Given the description of an element on the screen output the (x, y) to click on. 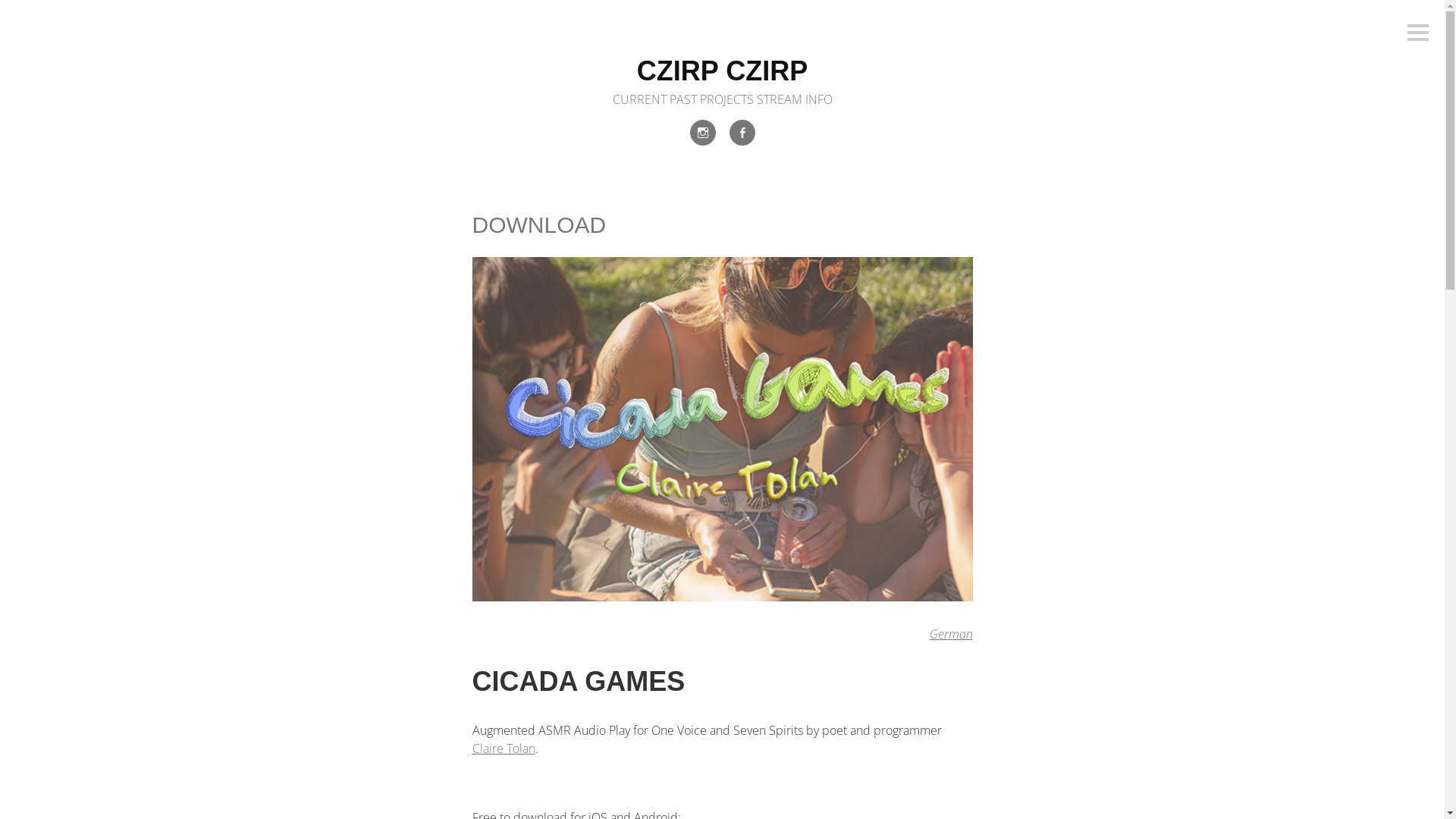
CZIRP CZIRP Element type: text (722, 70)
INFO Element type: text (818, 99)
Sidebar Element type: text (1417, 33)
Instagram Element type: text (702, 132)
STREAM Element type: text (779, 99)
CURRENT Element type: text (639, 99)
German Element type: text (950, 633)
PROJECTS Element type: text (726, 99)
Facebook Element type: text (741, 132)
PAST Element type: text (682, 99)
Claire Tolan Element type: text (502, 748)
